Given the description of an element on the screen output the (x, y) to click on. 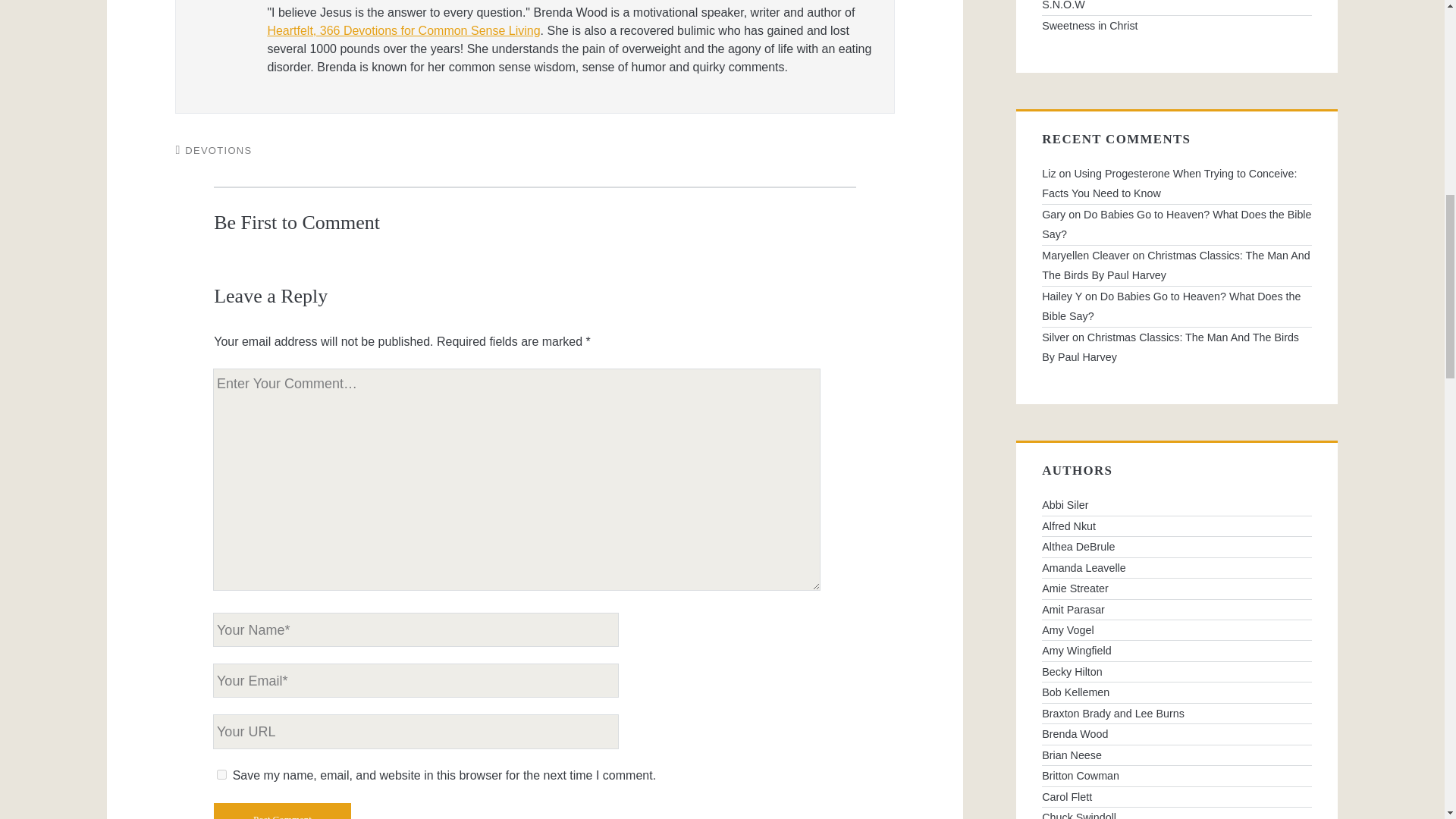
Becky Hilton (1176, 671)
Amy Wingfield (1176, 650)
Post Comment (282, 811)
Amie Streater (1176, 588)
S.N.O.W (1176, 7)
Amanda Leavelle (1176, 567)
Posts by Amie Streater (1176, 588)
Heartfelt, 366 Devotions for Common Sense Living (403, 30)
Christmas Classics: The Man And The Birds By Paul Harvey (1175, 265)
